Given the description of an element on the screen output the (x, y) to click on. 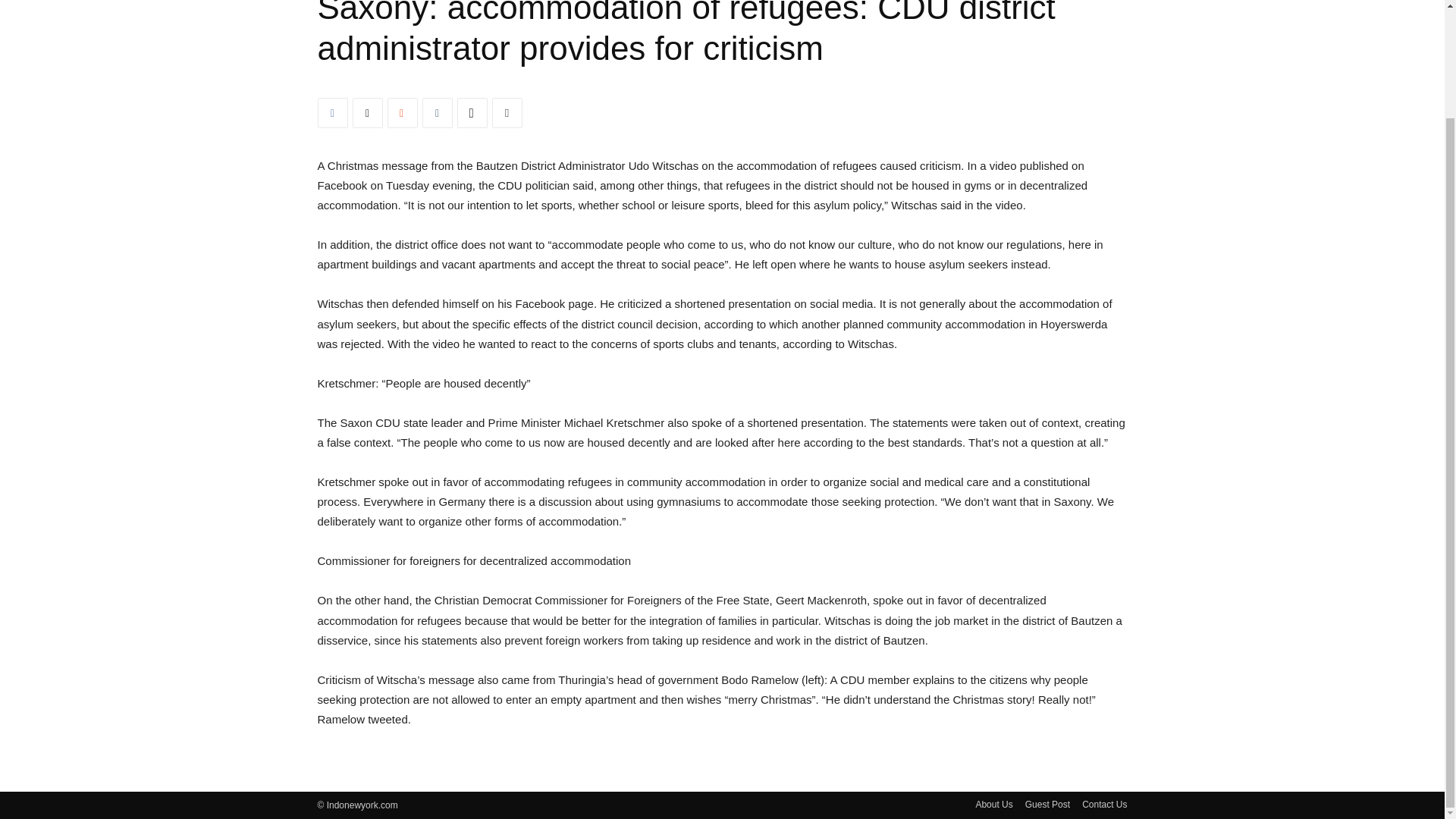
Guest Post (1047, 804)
Tumblr (436, 112)
Digg (471, 112)
About Us (993, 804)
Contact Us (1103, 804)
Mix (401, 112)
Twitter (366, 112)
Print (506, 112)
Facebook (332, 112)
